Given the description of an element on the screen output the (x, y) to click on. 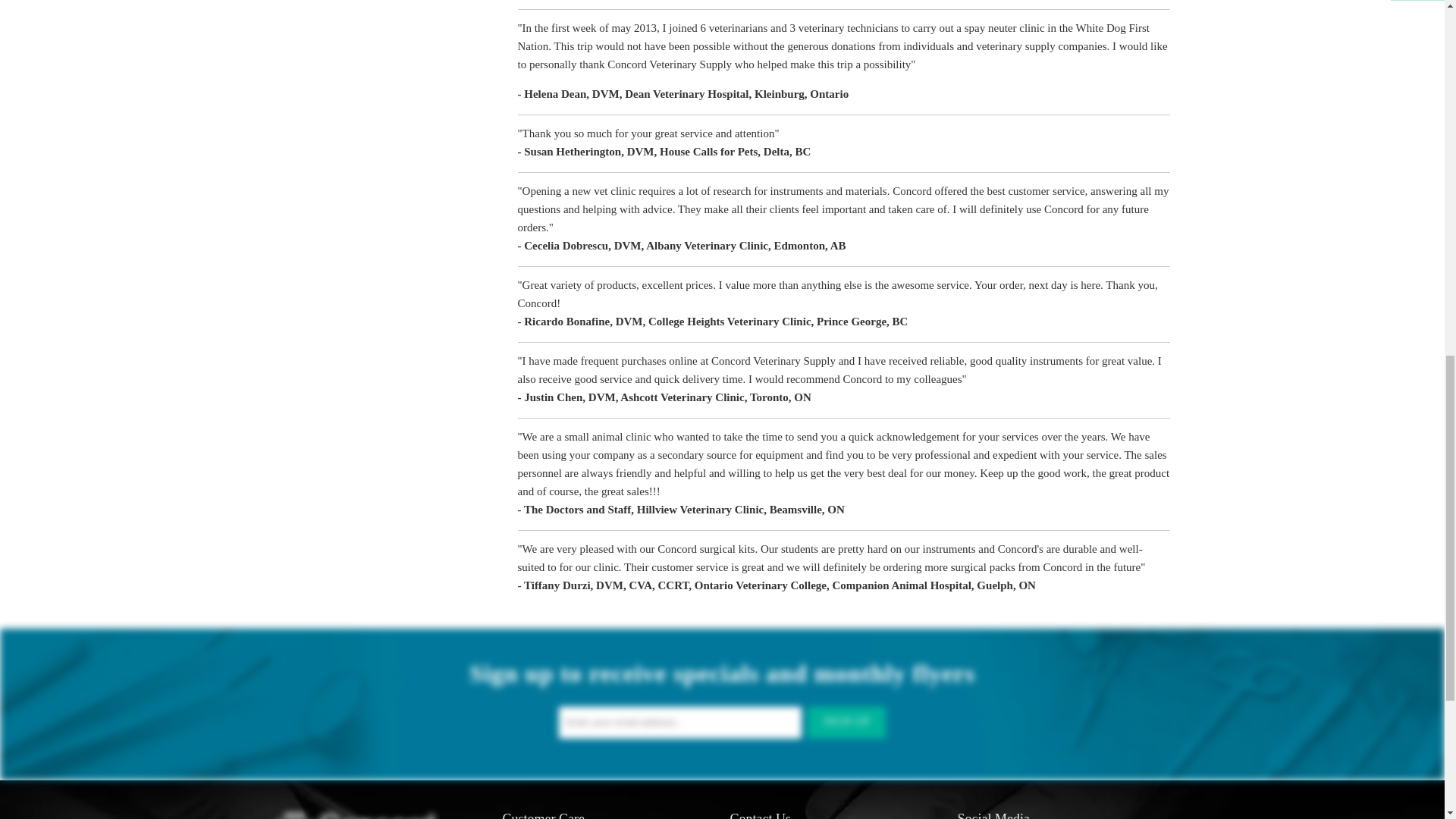
Sign Up (846, 722)
